Given the description of an element on the screen output the (x, y) to click on. 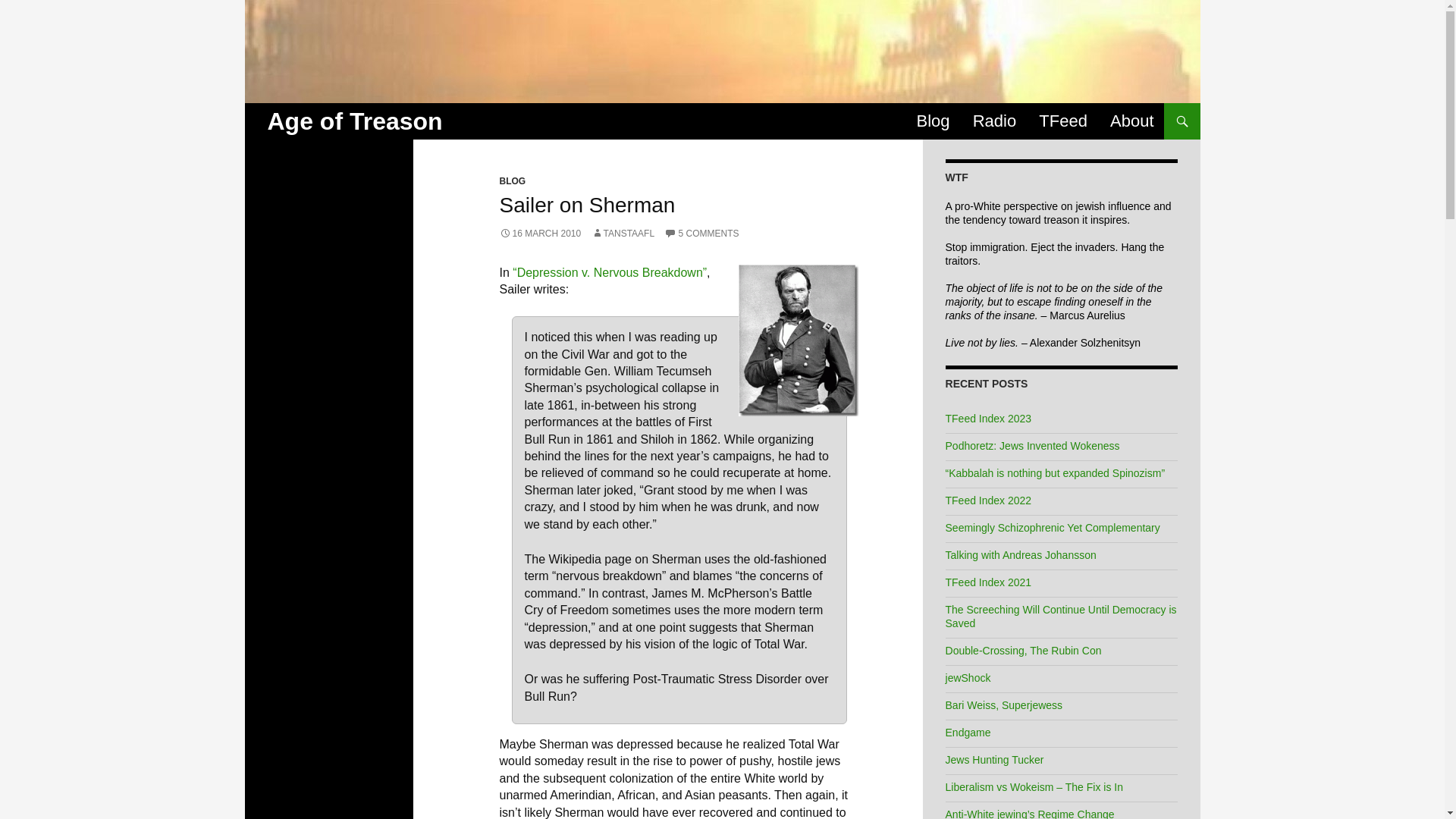
BLOG (512, 181)
Radio (994, 121)
About (1131, 121)
Age of Treason (354, 121)
Search (267, 111)
Seemingly Schizophrenic Yet Complementary (1052, 527)
Skip to content (971, 114)
TFeed Index 2023 (988, 418)
TANSTAAFL (623, 233)
Podhoretz: Jews Invented Wokeness (1031, 445)
